Given the description of an element on the screen output the (x, y) to click on. 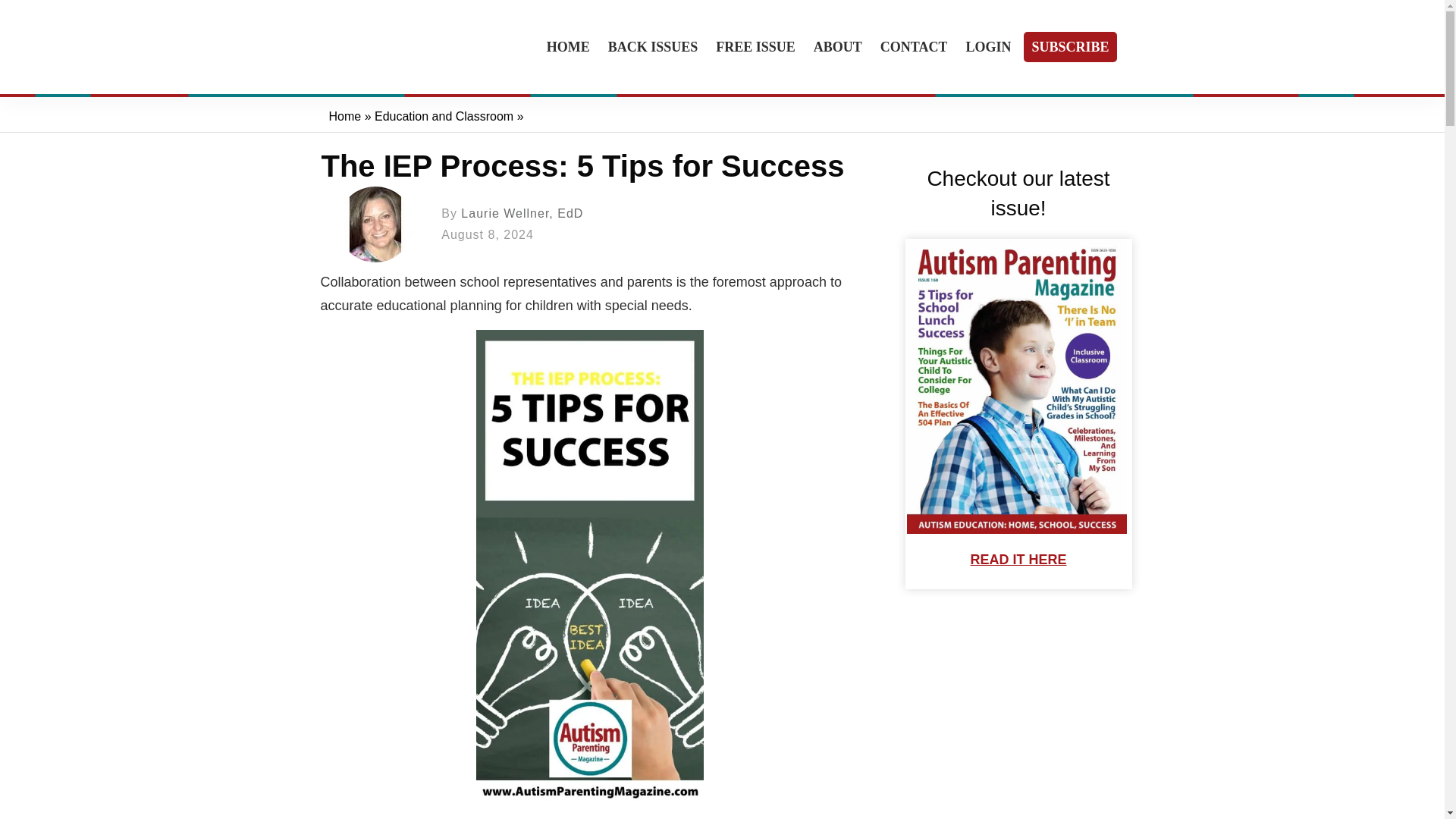
Laurie Wellner, EdD (522, 213)
Home (345, 115)
Laurie Wellner, EdD (522, 213)
LOGIN (987, 46)
HOME (568, 46)
BACK ISSUES (653, 46)
Education and Classroom (443, 115)
FREE ISSUE (755, 46)
SUBSCRIBE (1069, 46)
CONTACT (913, 46)
